Given the description of an element on the screen output the (x, y) to click on. 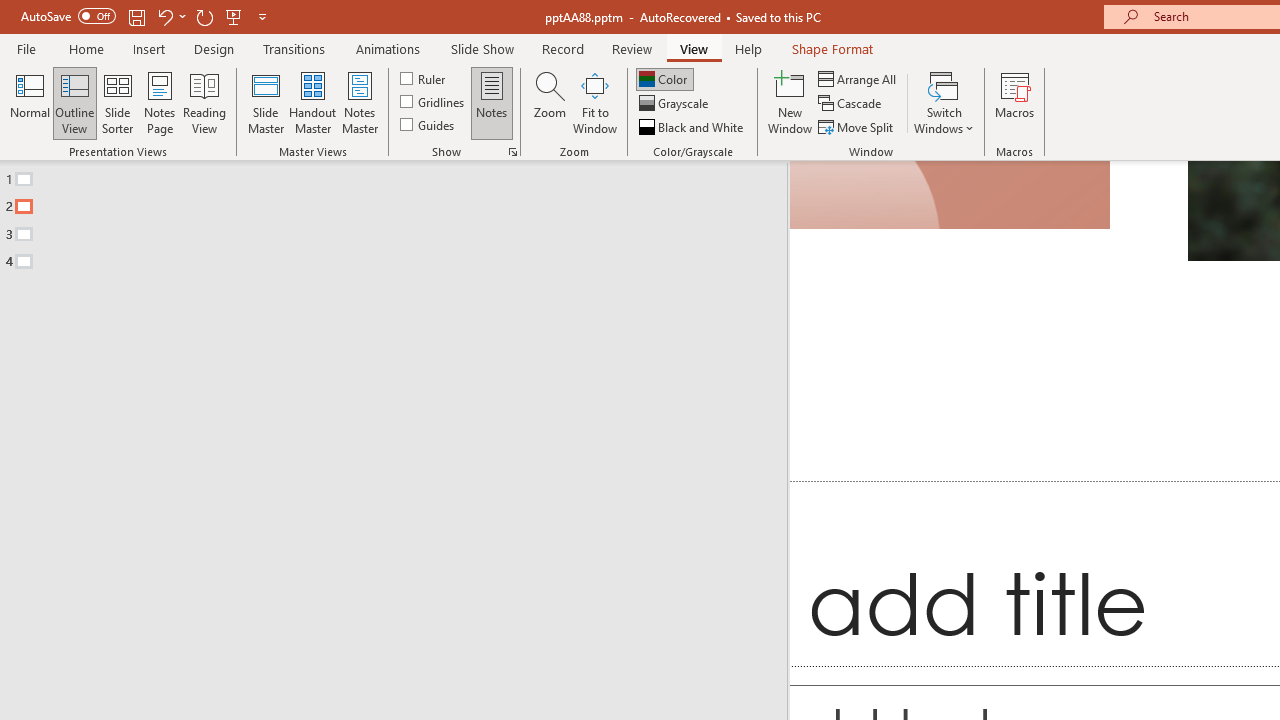
Notes Master (360, 102)
Macros (1014, 102)
Grayscale (675, 103)
Guides (428, 124)
Switch Windows (943, 102)
Zoom... (549, 102)
Handout Master (312, 102)
Move Split (857, 126)
